Given the description of an element on the screen output the (x, y) to click on. 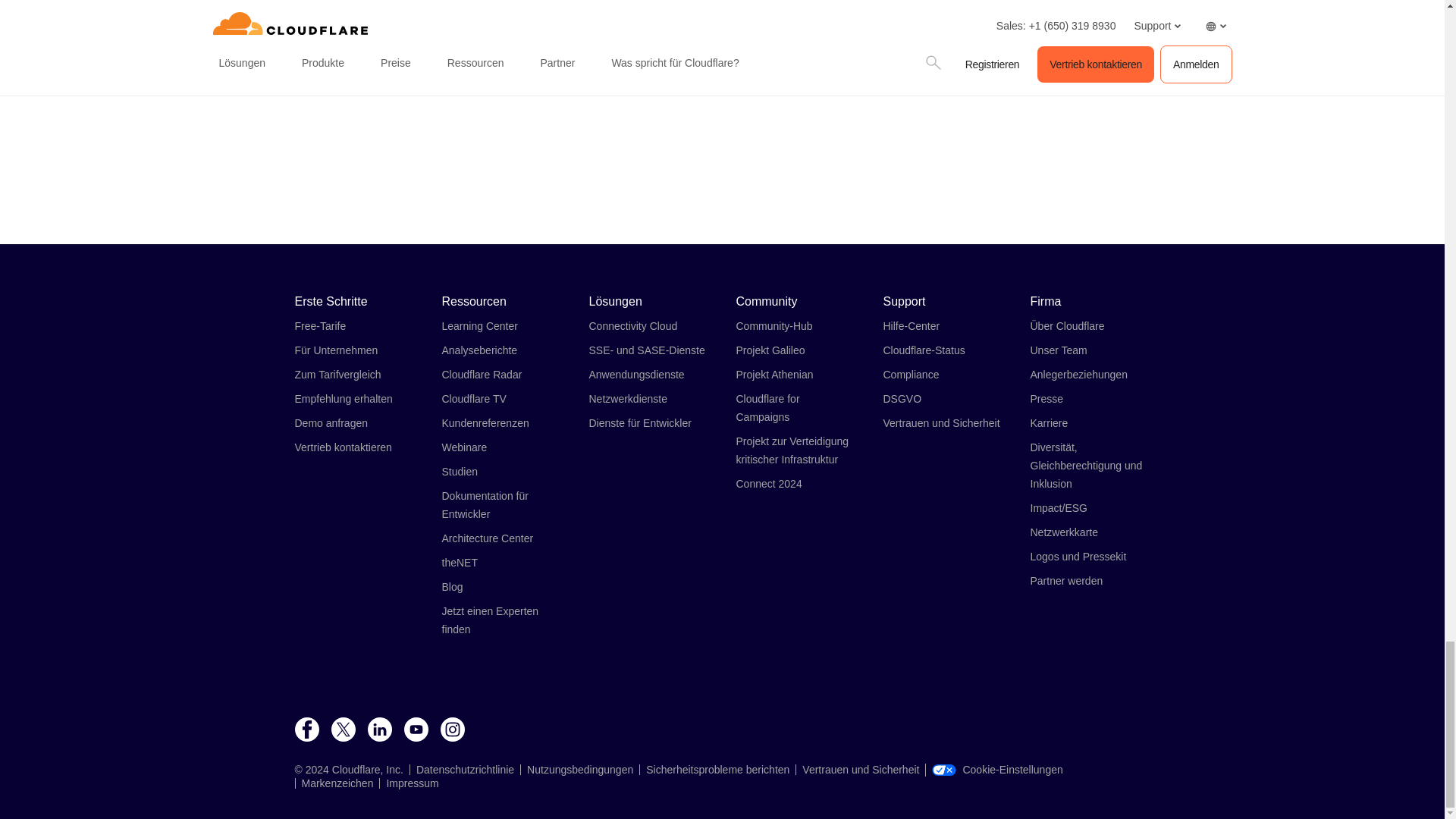
Facebook (306, 730)
Youtube (415, 730)
LinkedIn (378, 730)
X (342, 730)
Instagram (451, 730)
